Given the description of an element on the screen output the (x, y) to click on. 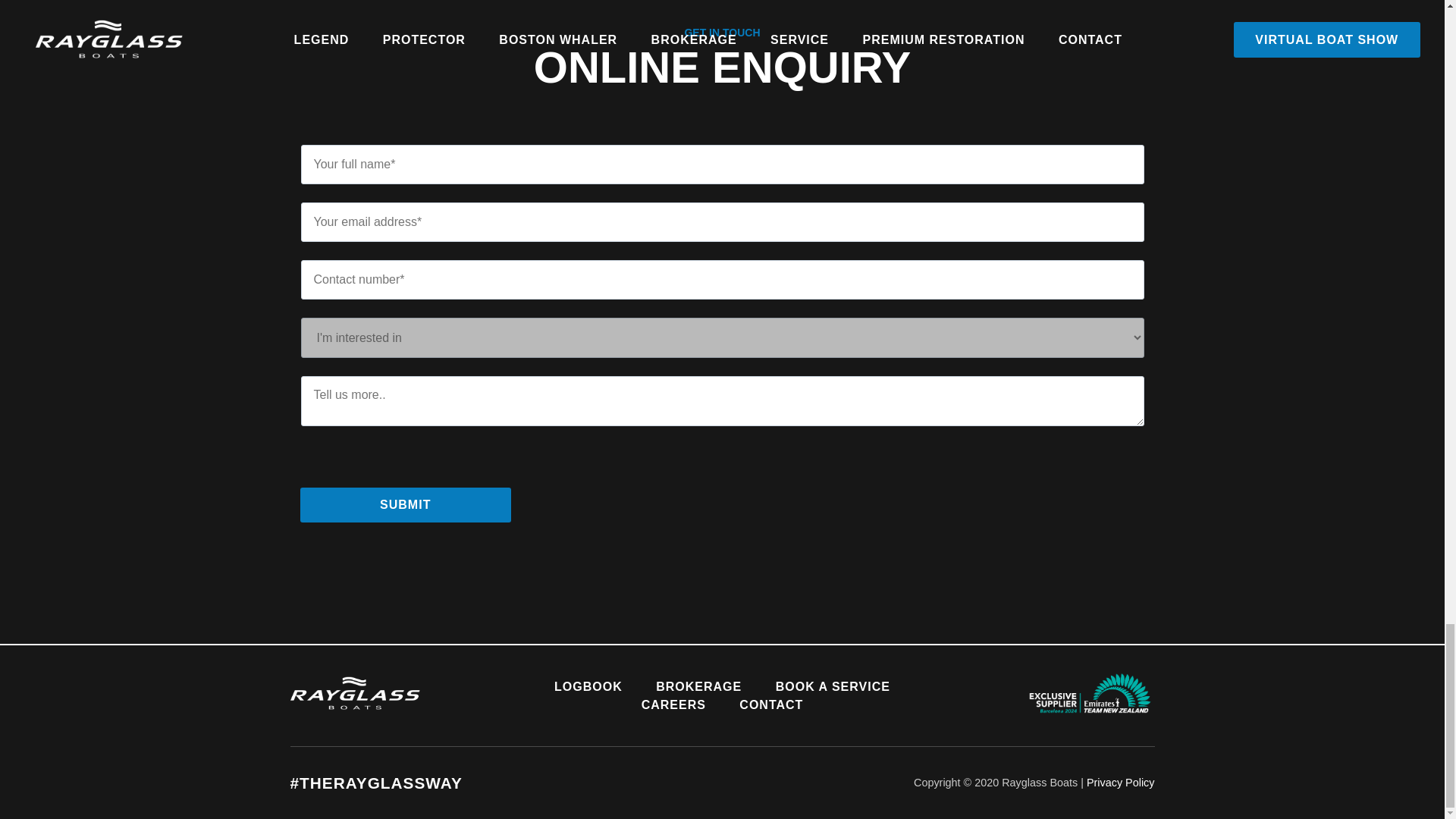
Submit (405, 504)
Privacy Policy (1120, 782)
